Given the description of an element on the screen output the (x, y) to click on. 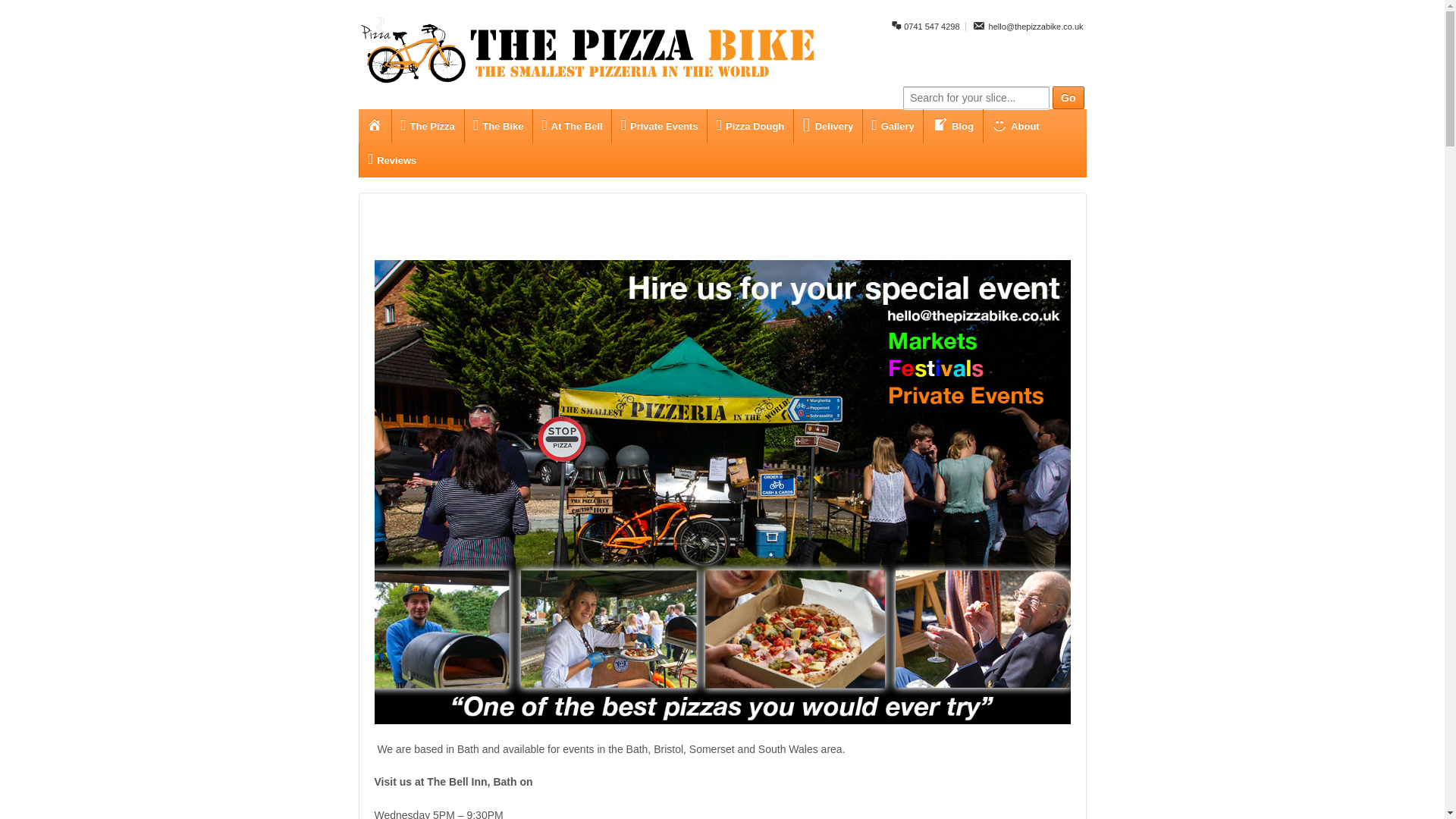
The Pizza (427, 125)
Private Events (658, 125)
At The Bell (571, 125)
Home (374, 125)
Blog (952, 125)
0741 547 4298 (923, 26)
The Bike (498, 125)
Go (1067, 97)
Go (1067, 97)
Reviews (391, 160)
Gallery (892, 125)
About (1015, 125)
Delivery (827, 125)
Pizza Dough (749, 125)
